Given the description of an element on the screen output the (x, y) to click on. 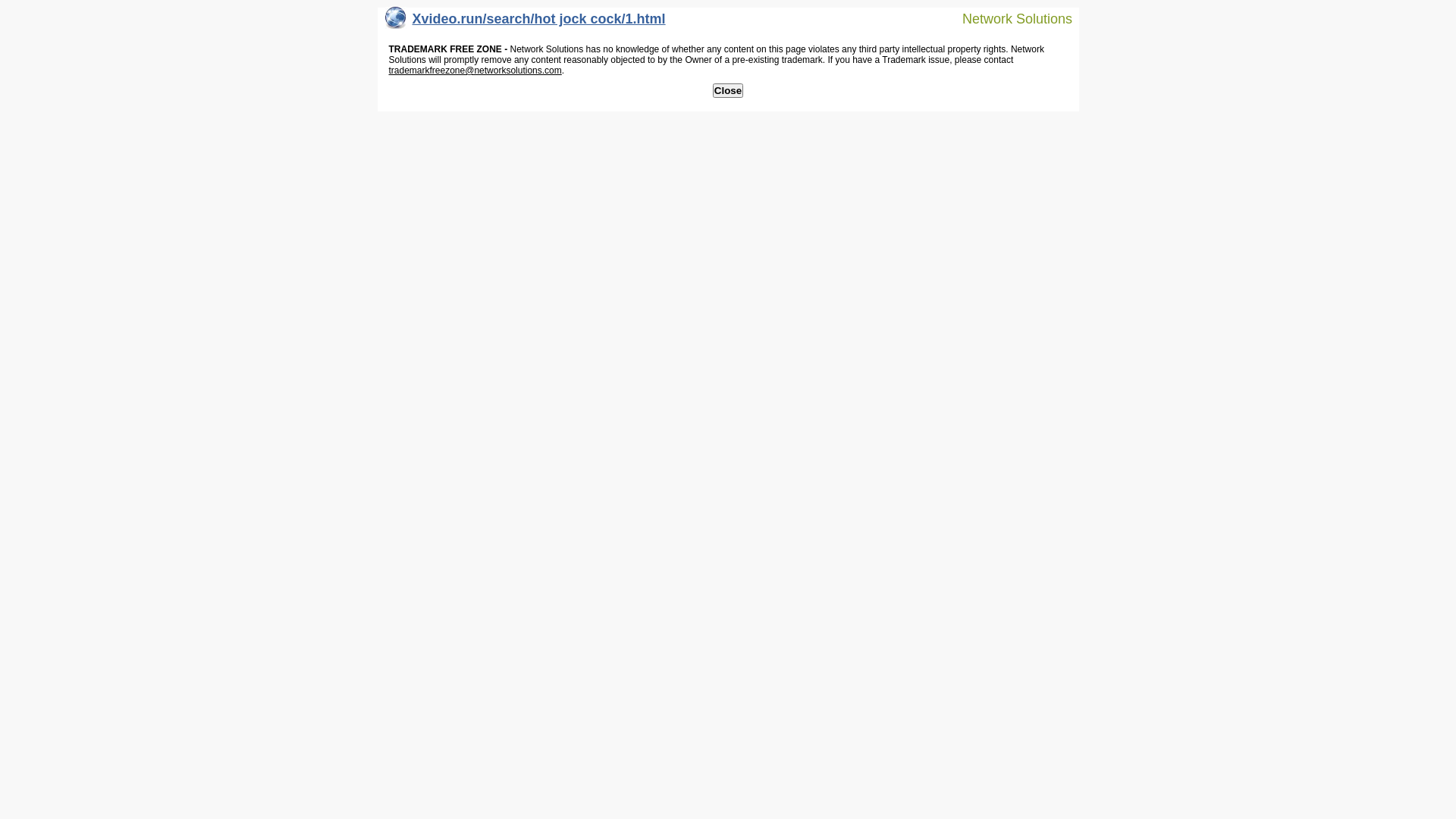
Network Solutions Element type: text (1007, 17)
Xvideo.run/search/hot jock cock/1.html Element type: text (525, 21)
trademarkfreezone@networksolutions.com Element type: text (474, 70)
Close Element type: text (727, 90)
